Given the description of an element on the screen output the (x, y) to click on. 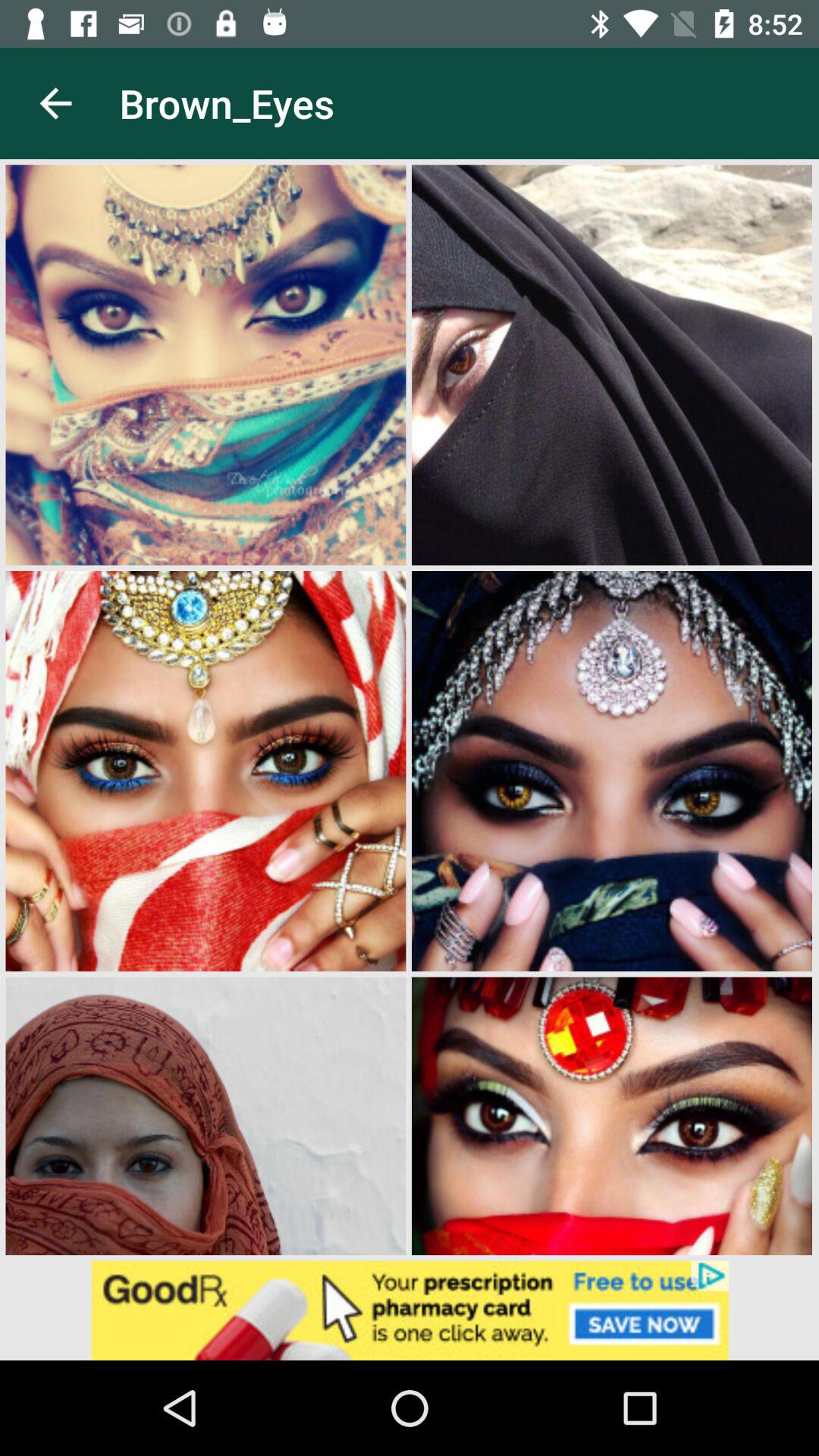
advertisement (409, 1310)
